Given the description of an element on the screen output the (x, y) to click on. 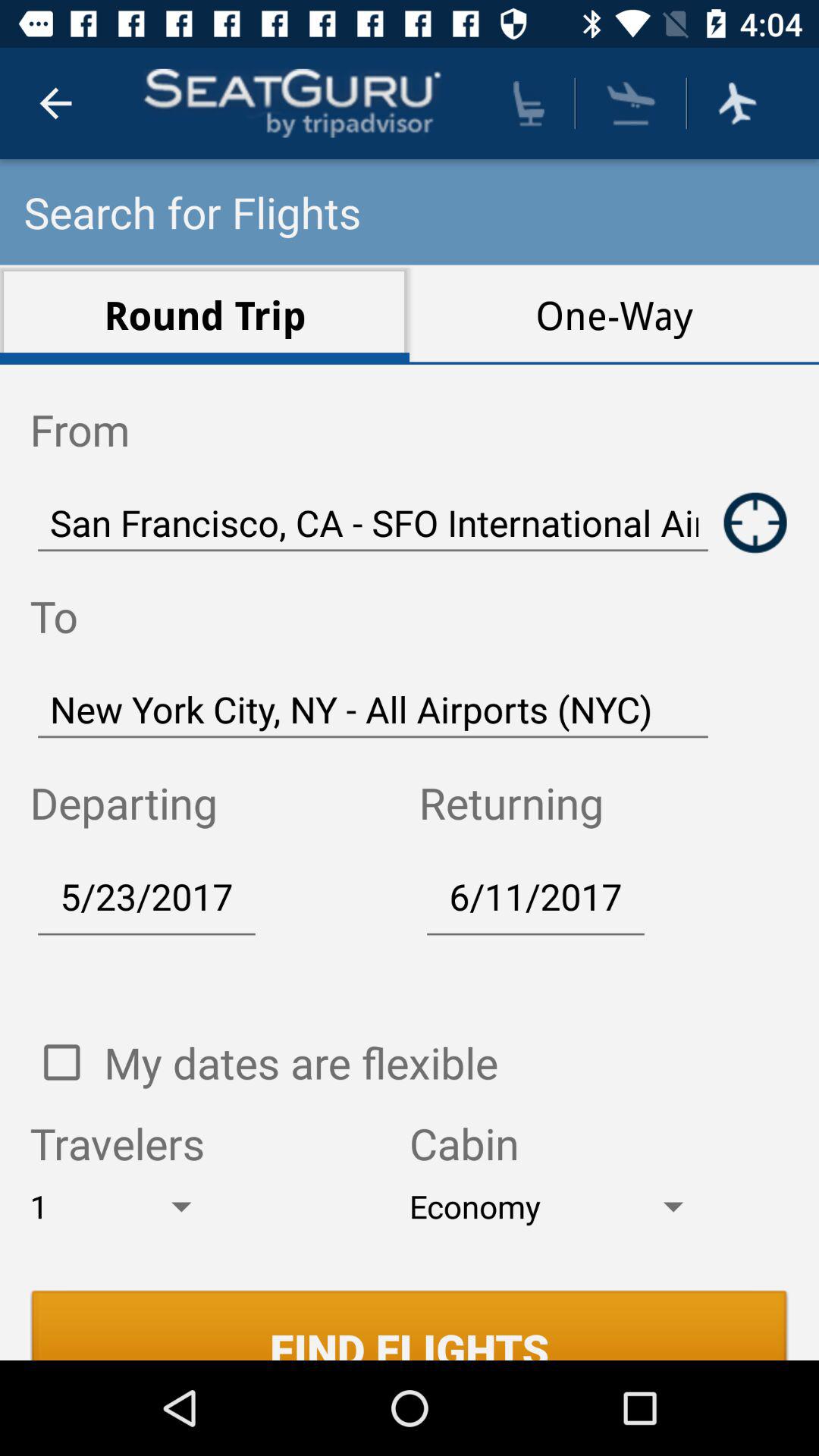
select departing airport (755, 522)
